Given the description of an element on the screen output the (x, y) to click on. 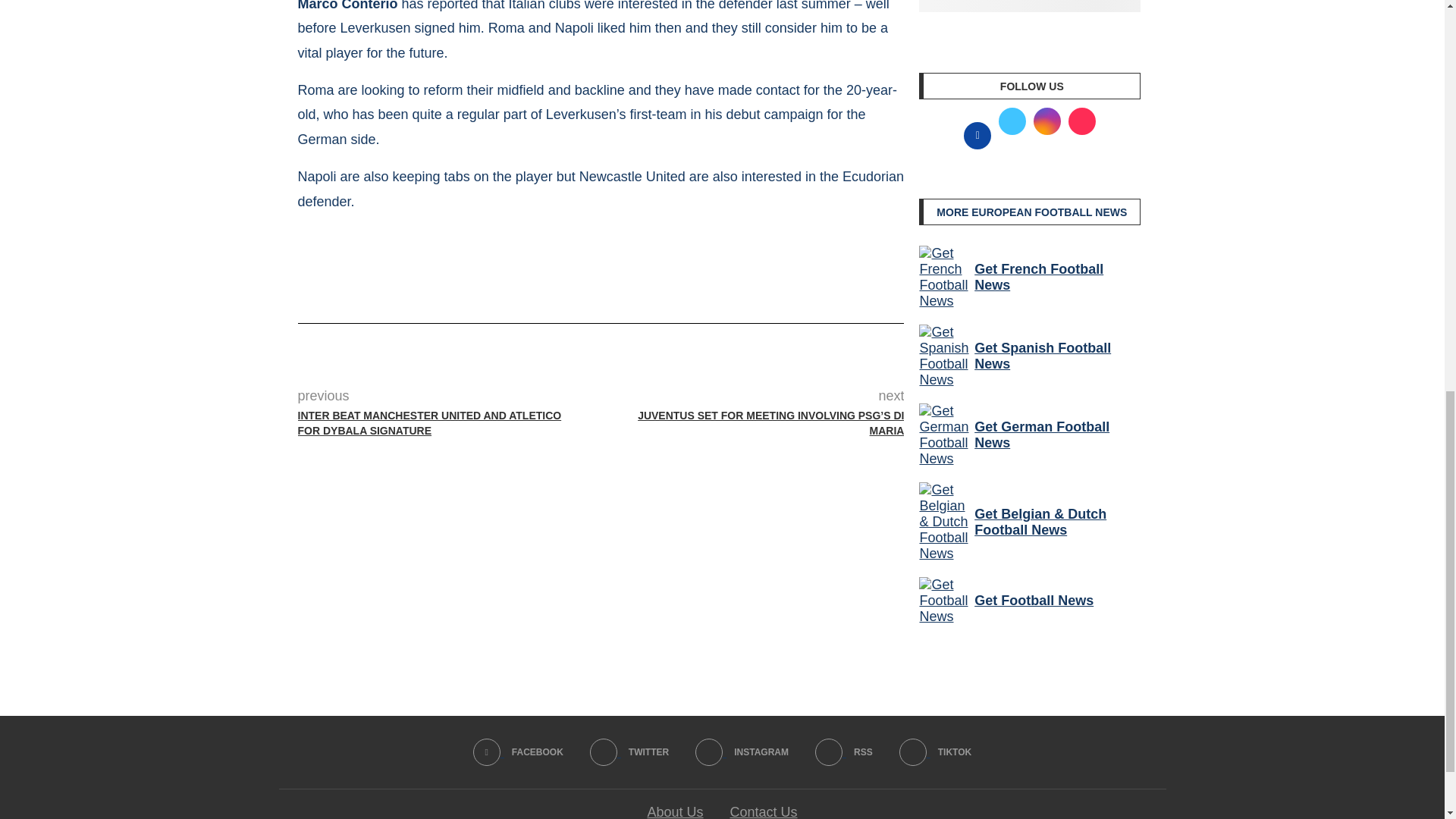
Get Football News (943, 600)
